Given the description of an element on the screen output the (x, y) to click on. 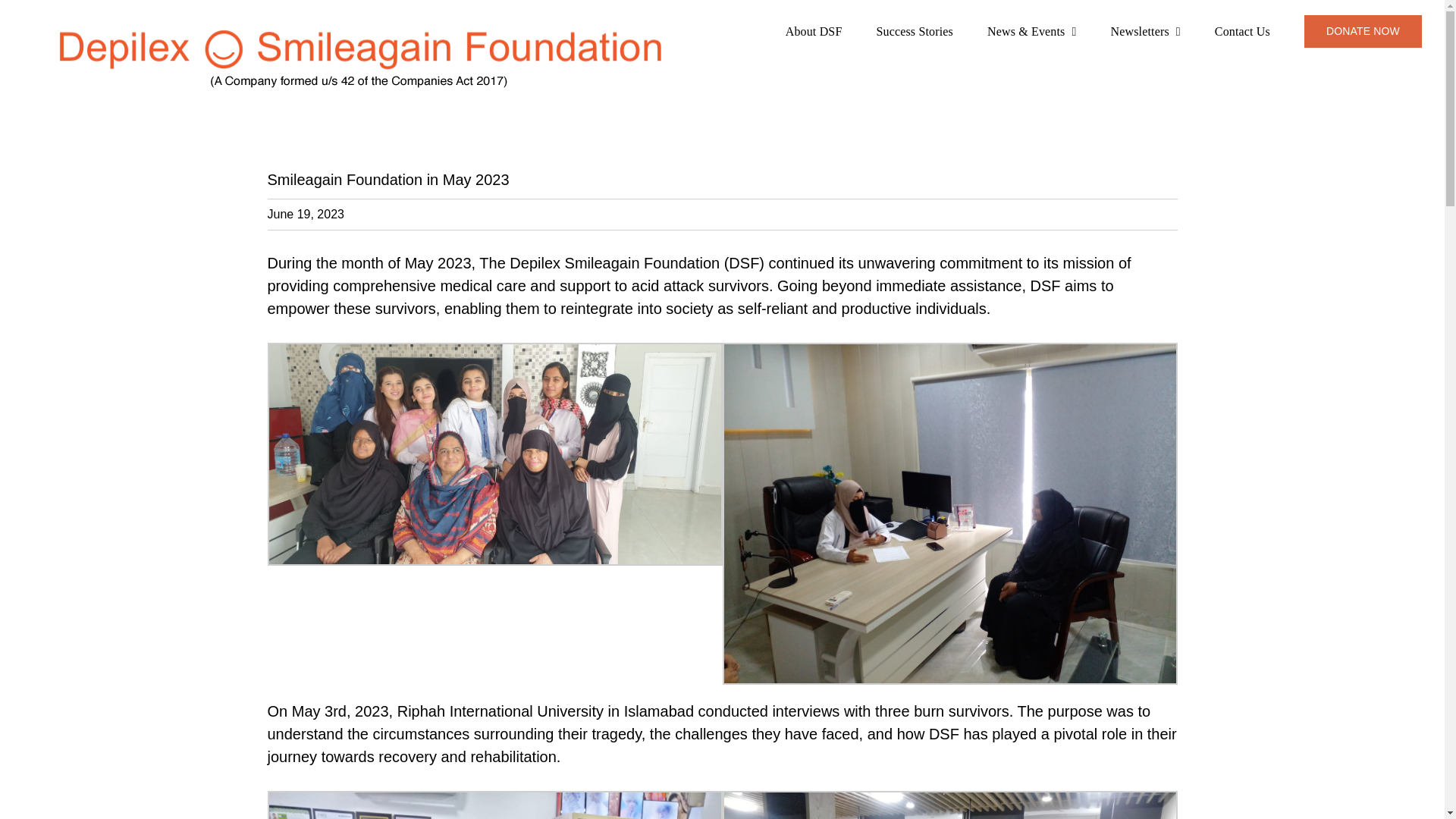
About DSF (814, 30)
Success Stories (914, 30)
DONATE NOW (1363, 30)
Newsletters (1145, 30)
Contact Us (1241, 30)
